Given the description of an element on the screen output the (x, y) to click on. 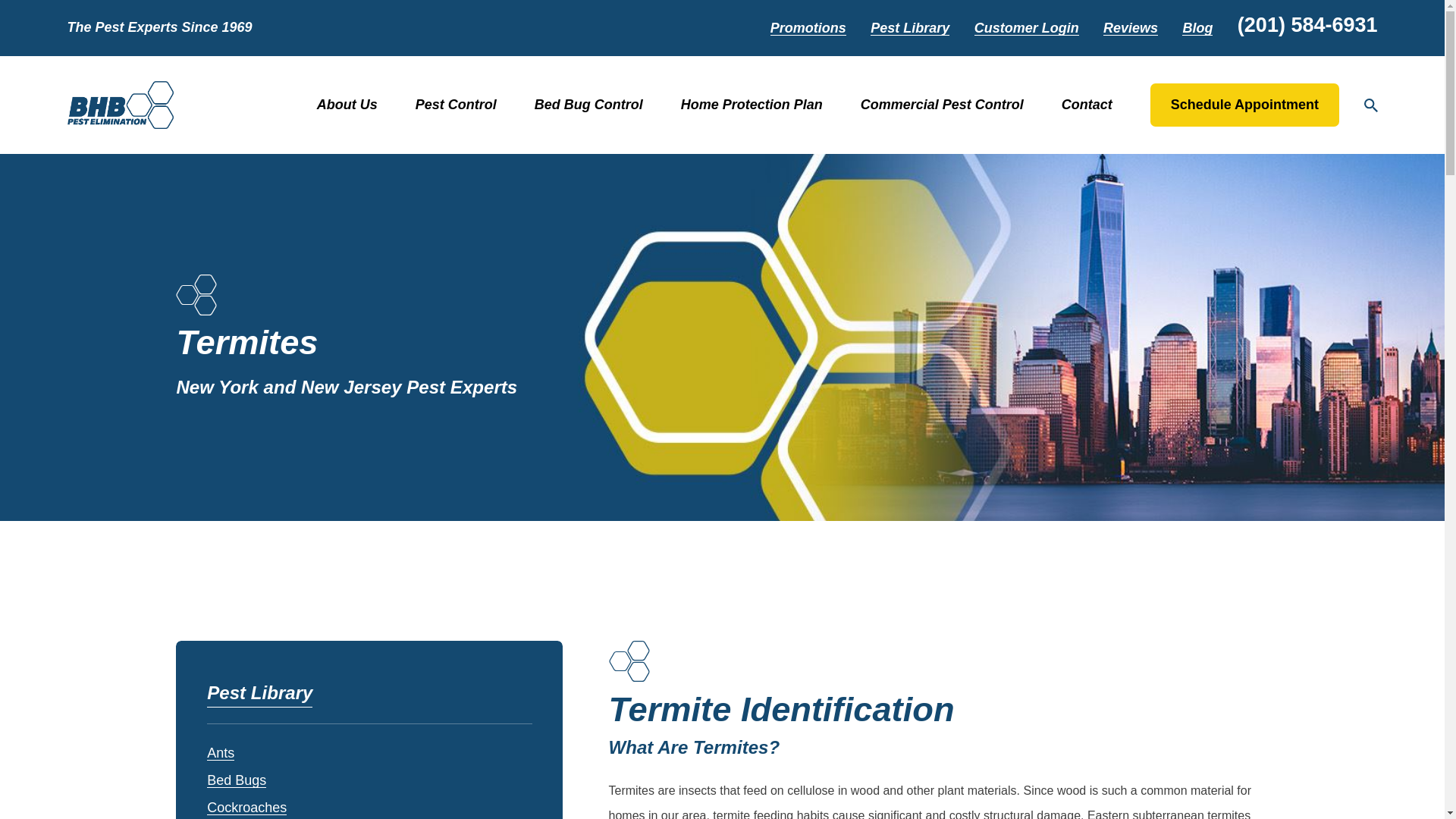
About Us (347, 104)
Pest Control (455, 104)
Pest Library (909, 28)
Home (119, 105)
Reviews (1130, 28)
Contact (1086, 104)
Home Protection Plan (751, 104)
Customer Login (1026, 28)
Blog (1197, 28)
Promotions (807, 28)
